Given the description of an element on the screen output the (x, y) to click on. 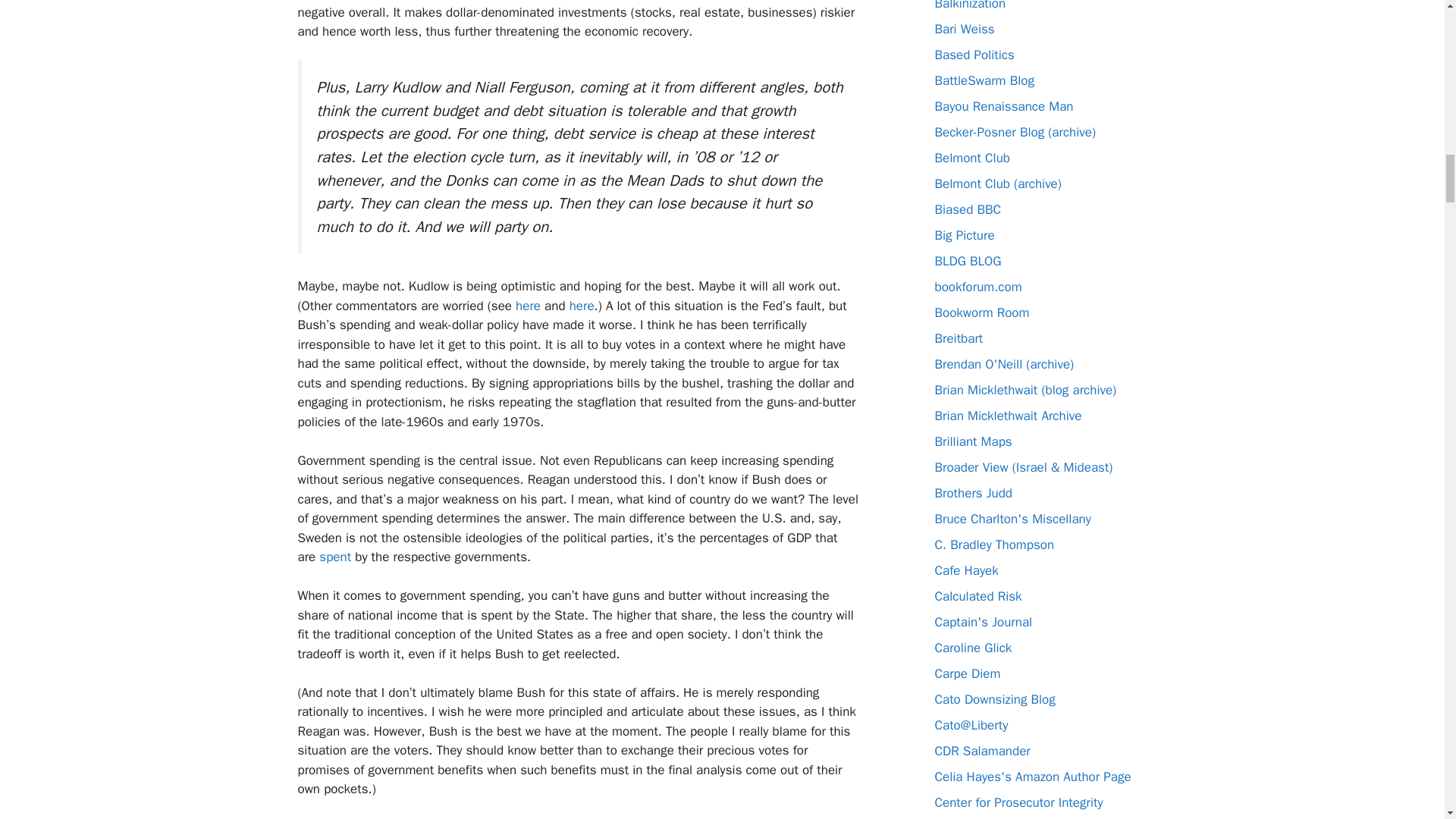
here (581, 305)
spent (334, 556)
here (527, 305)
